Given the description of an element on the screen output the (x, y) to click on. 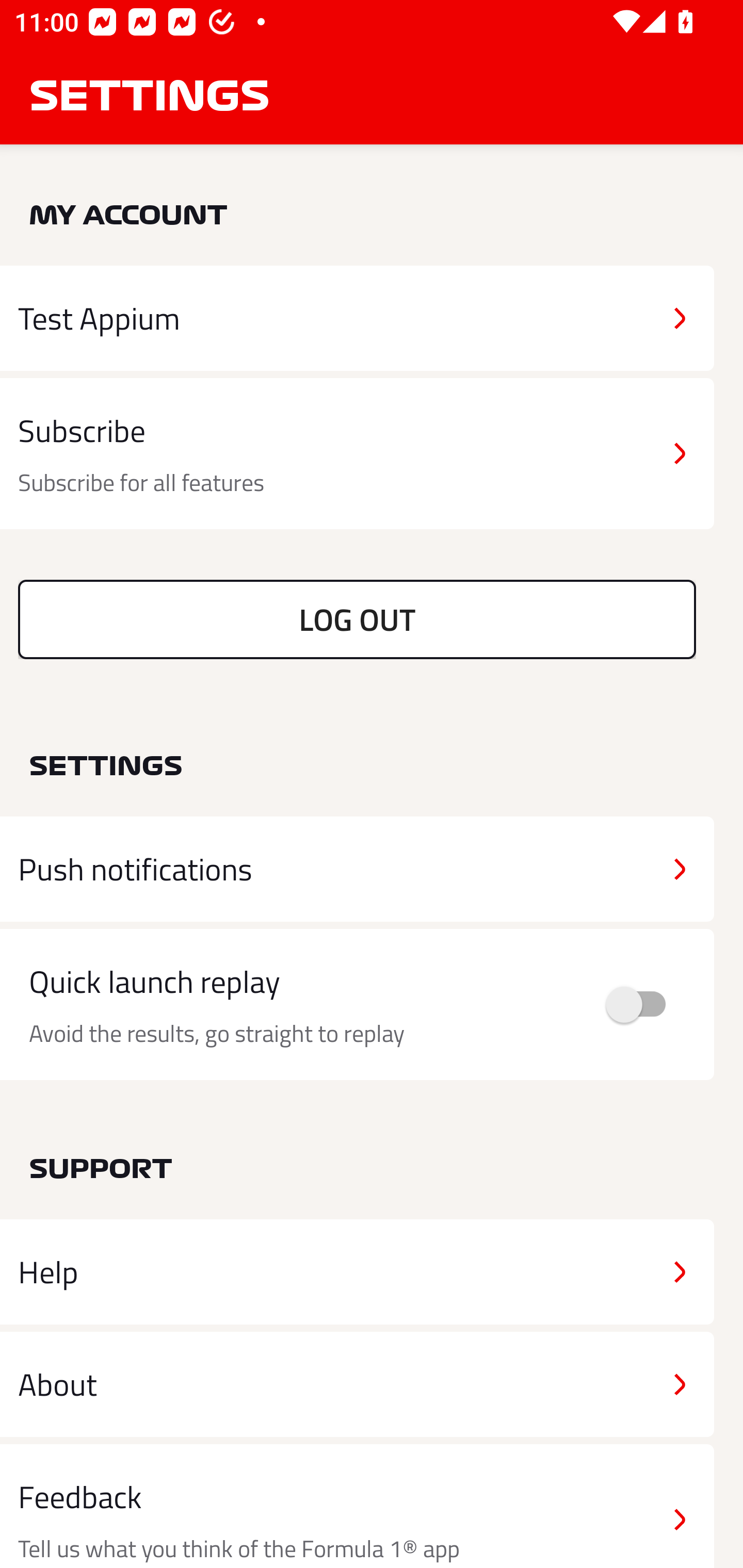
Test Appium (357, 317)
Subscribe Subscribe for all features (357, 453)
LOG OUT (356, 619)
Push notifications (357, 868)
Help (357, 1271)
About (357, 1383)
